Given the description of an element on the screen output the (x, y) to click on. 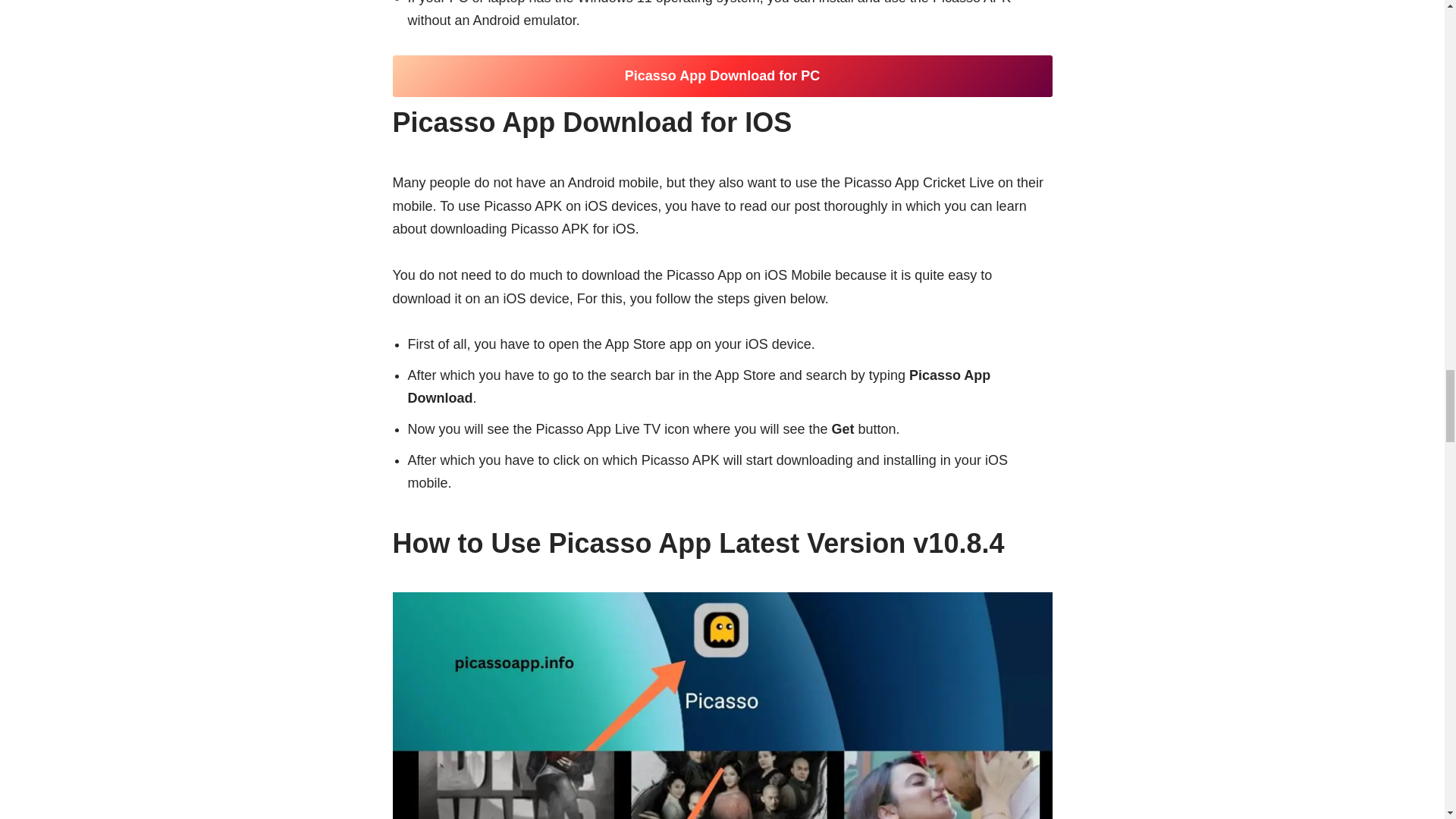
Picasso App Download for PC (722, 76)
